Given the description of an element on the screen output the (x, y) to click on. 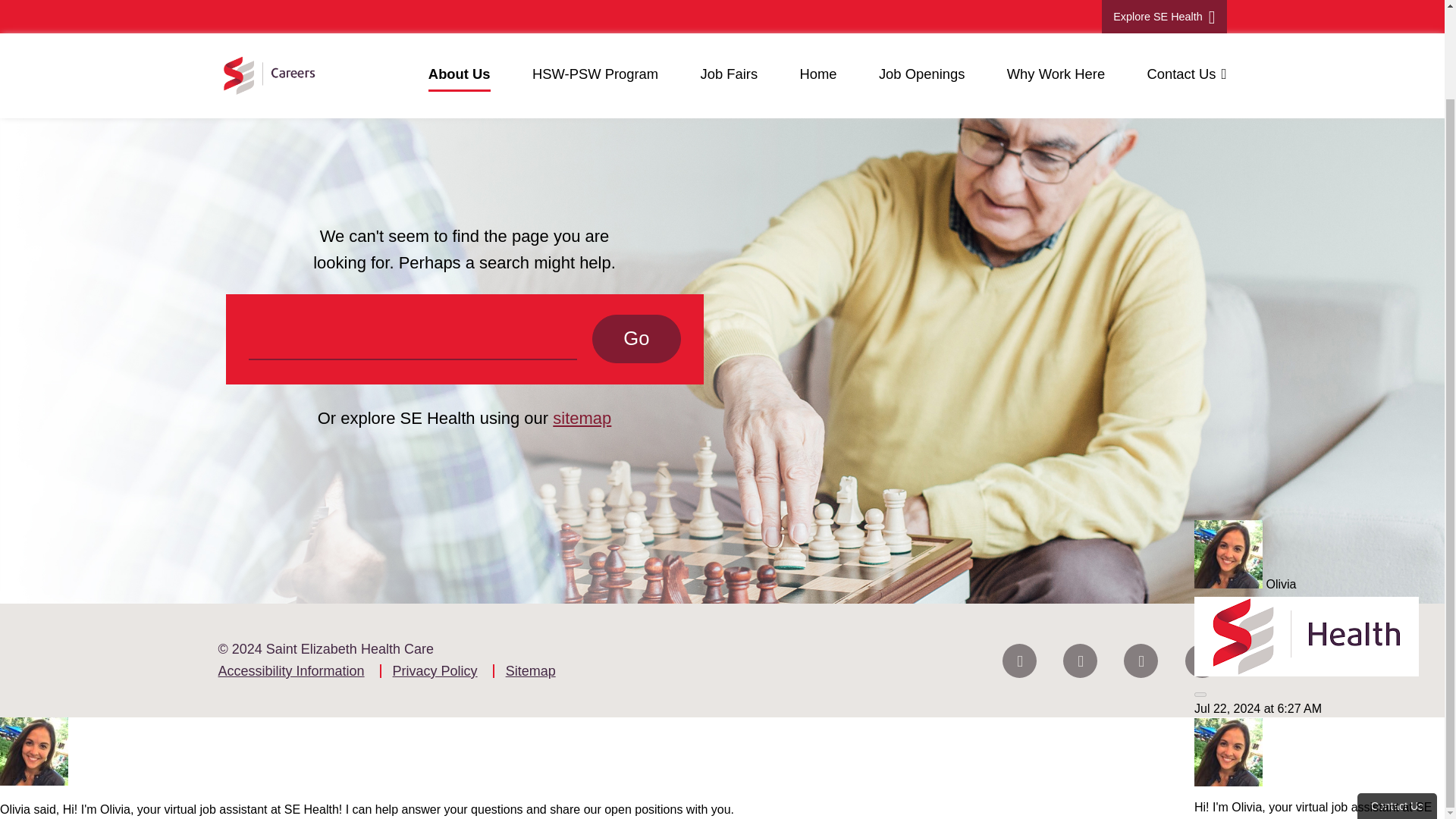
Go (635, 338)
Saint Elizabeth on YouTube (1201, 659)
Saint Elizabeth on LinkedIn (1140, 659)
Saint Elizabeth on Twitter (1079, 659)
Saint Elizabeth on Facebook (1019, 659)
